Given the description of an element on the screen output the (x, y) to click on. 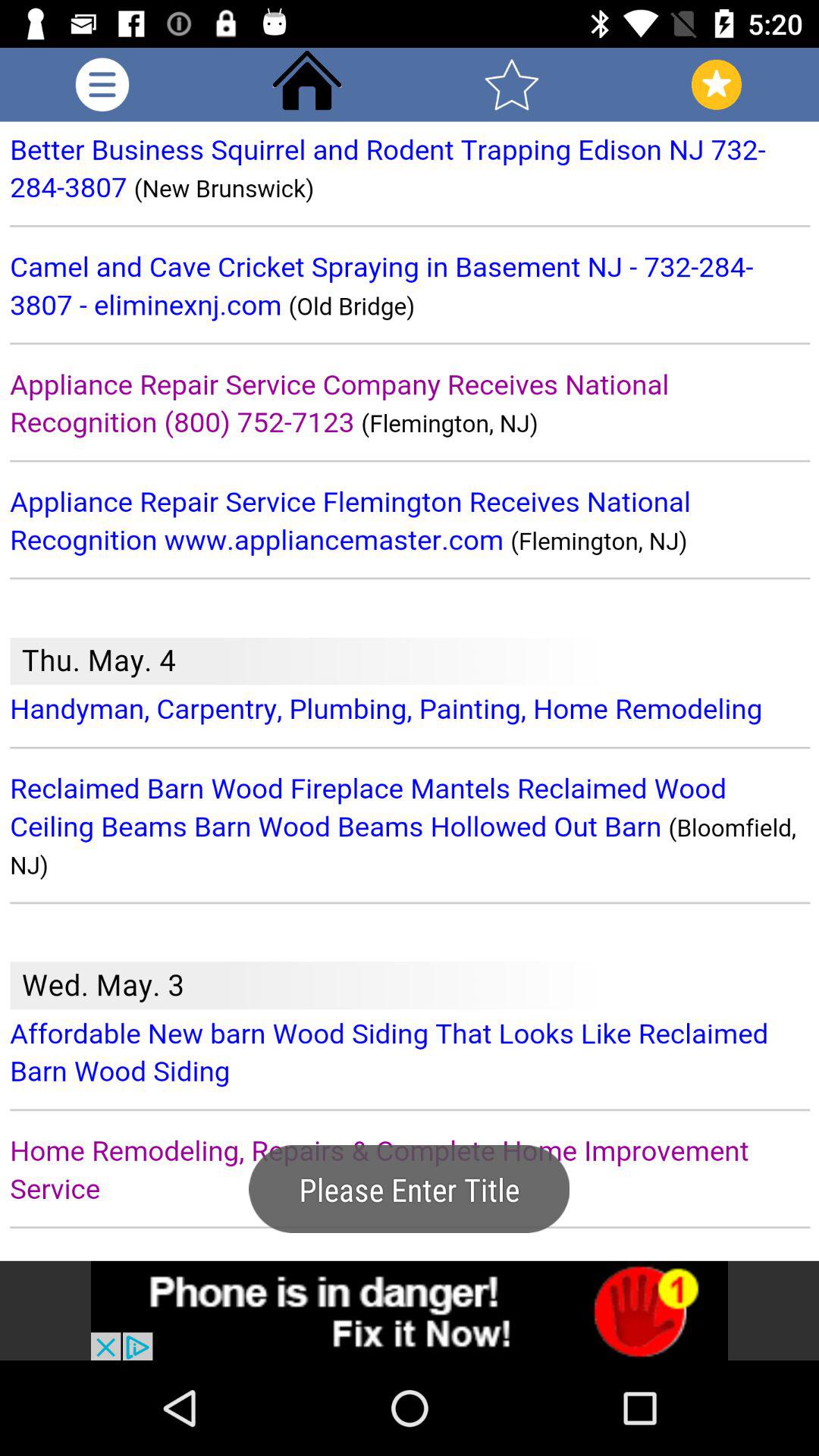
go to particular site (409, 1310)
